Given the description of an element on the screen output the (x, y) to click on. 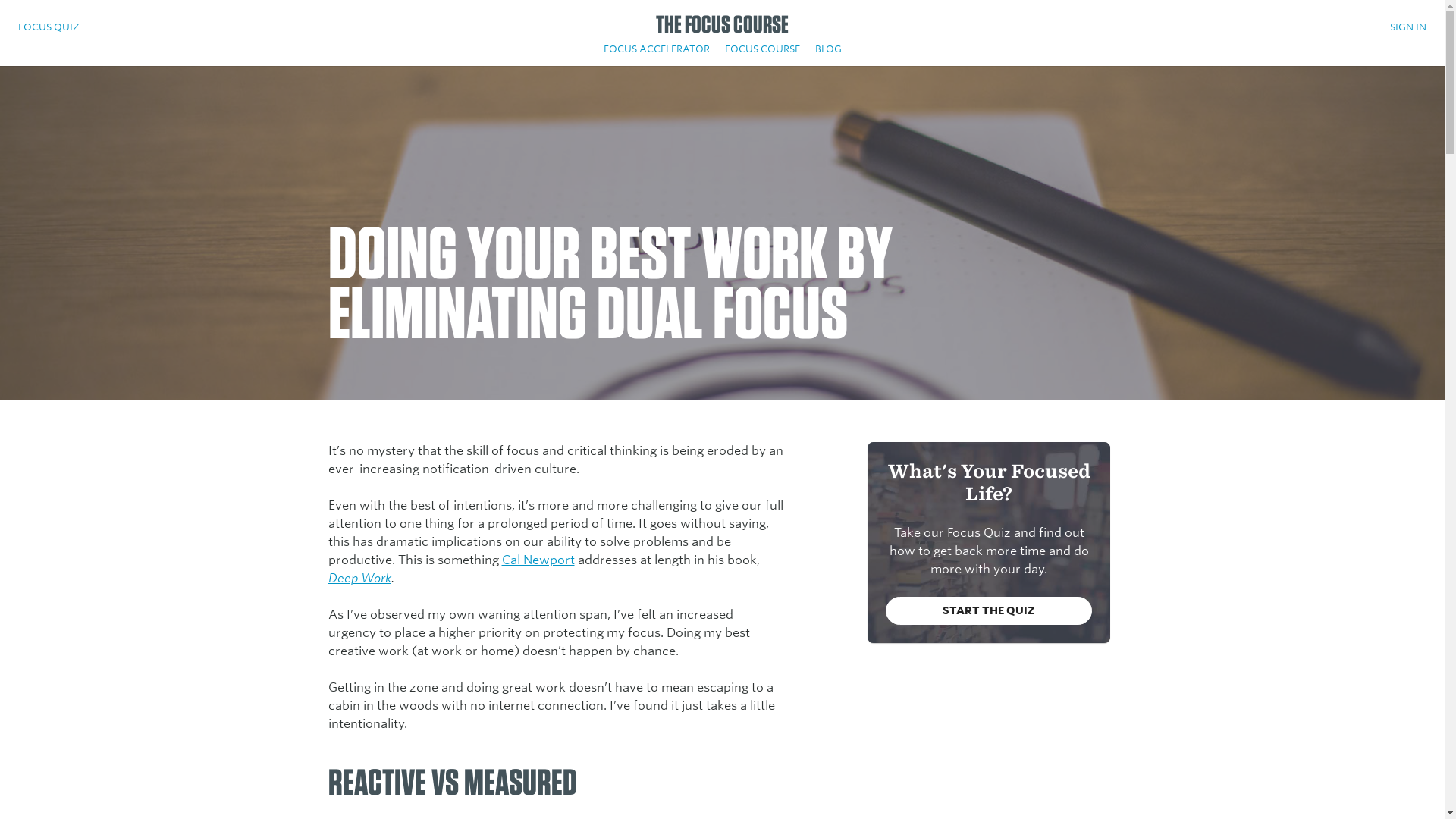
FOCUS COURSE (762, 51)
BLOG (827, 51)
Cal Newport (538, 559)
START THE QUIZ (988, 610)
Deep Work (358, 577)
FOCUS ACCELERATOR (656, 51)
SIGN IN (1408, 29)
FOCUS QUIZ (48, 29)
THE FOCUS COURSE (722, 28)
